Given the description of an element on the screen output the (x, y) to click on. 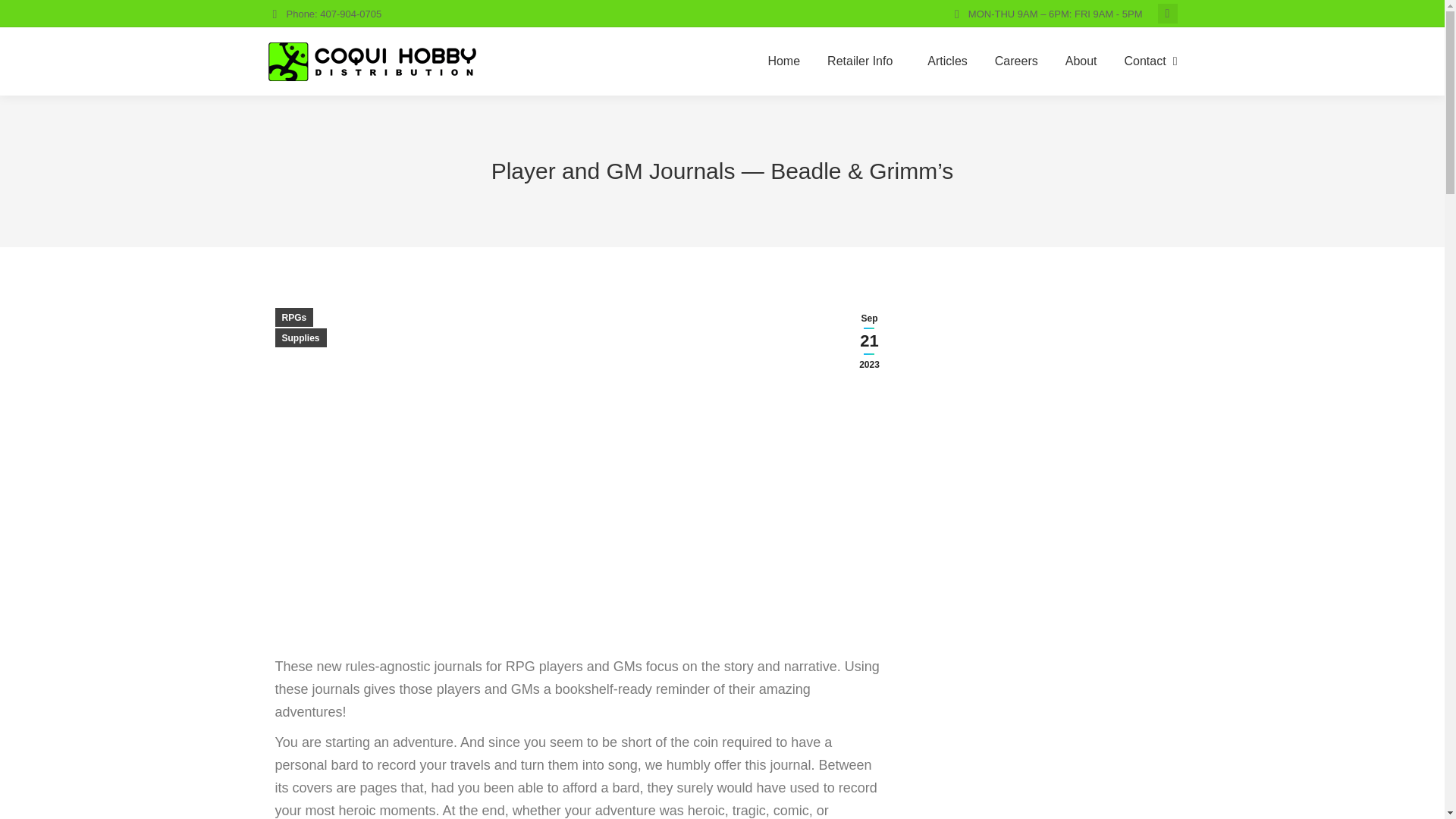
Careers (1016, 60)
Articles (946, 60)
Go! (24, 16)
About (1081, 60)
Retailer Info (863, 60)
Contact (1145, 60)
Home (783, 60)
RPGs (294, 316)
Supplies (300, 337)
Facebook page opens in new window (1167, 13)
